Given the description of an element on the screen output the (x, y) to click on. 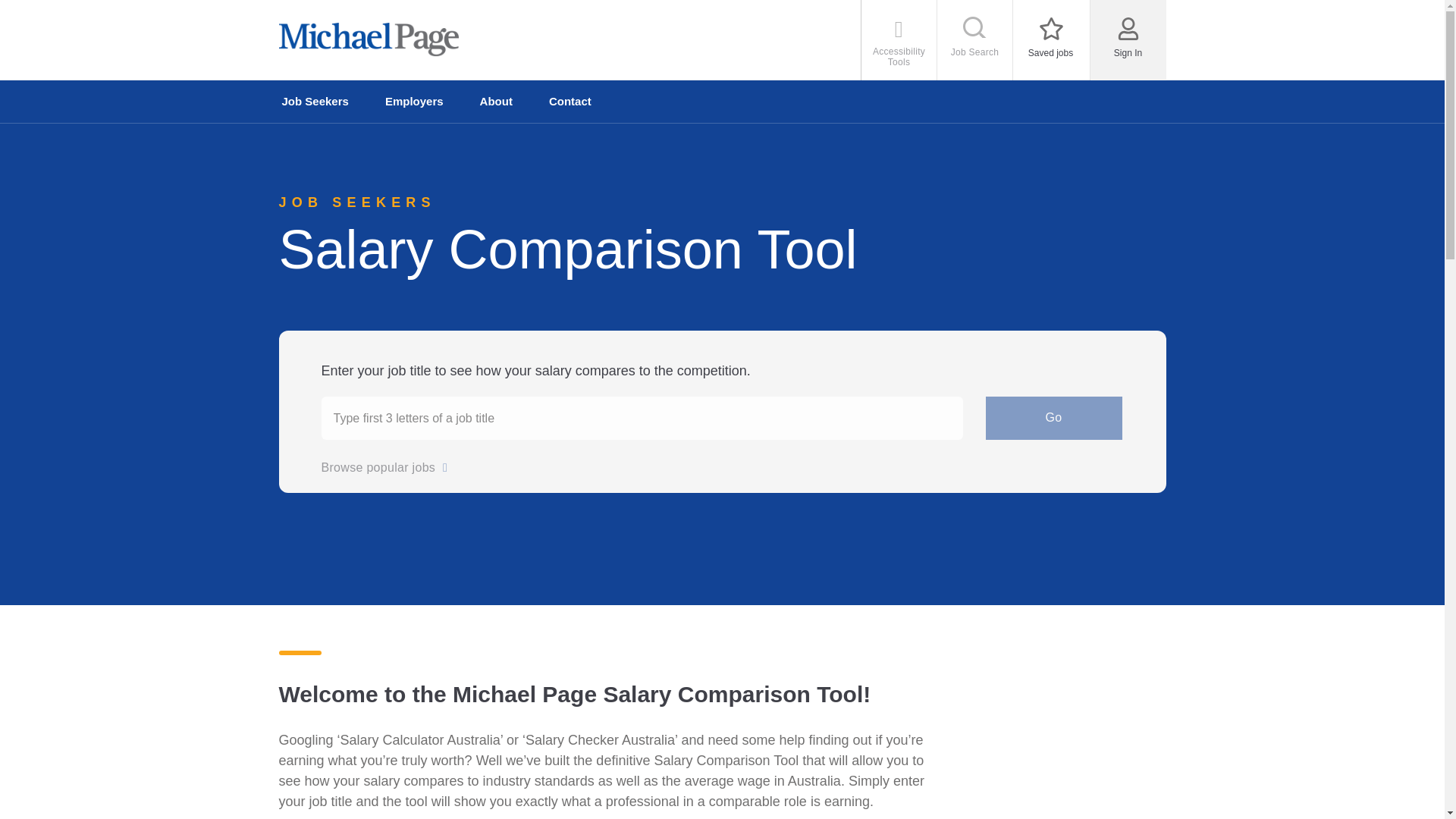
Accessibility Tools (1051, 40)
Submit (899, 40)
Sign In (101, 12)
Job Seekers (1128, 34)
Job Search (315, 101)
Go (975, 40)
